Given the description of an element on the screen output the (x, y) to click on. 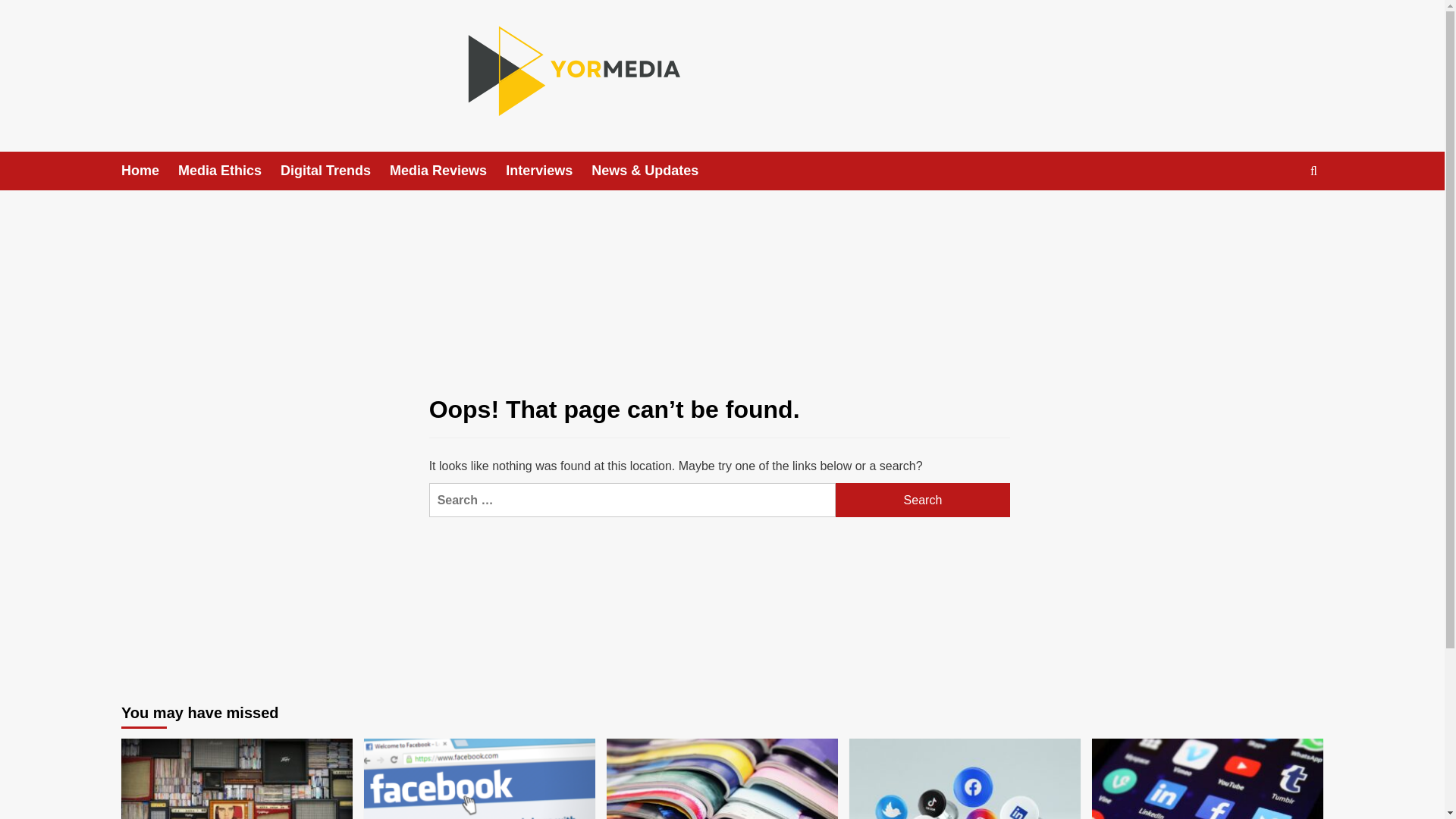
Home (148, 170)
Search (1278, 216)
Search (922, 499)
Media Ethics (229, 170)
Digital Trends (335, 170)
Search (922, 499)
Search (922, 499)
Media Reviews (447, 170)
Interviews (548, 170)
